Given the description of an element on the screen output the (x, y) to click on. 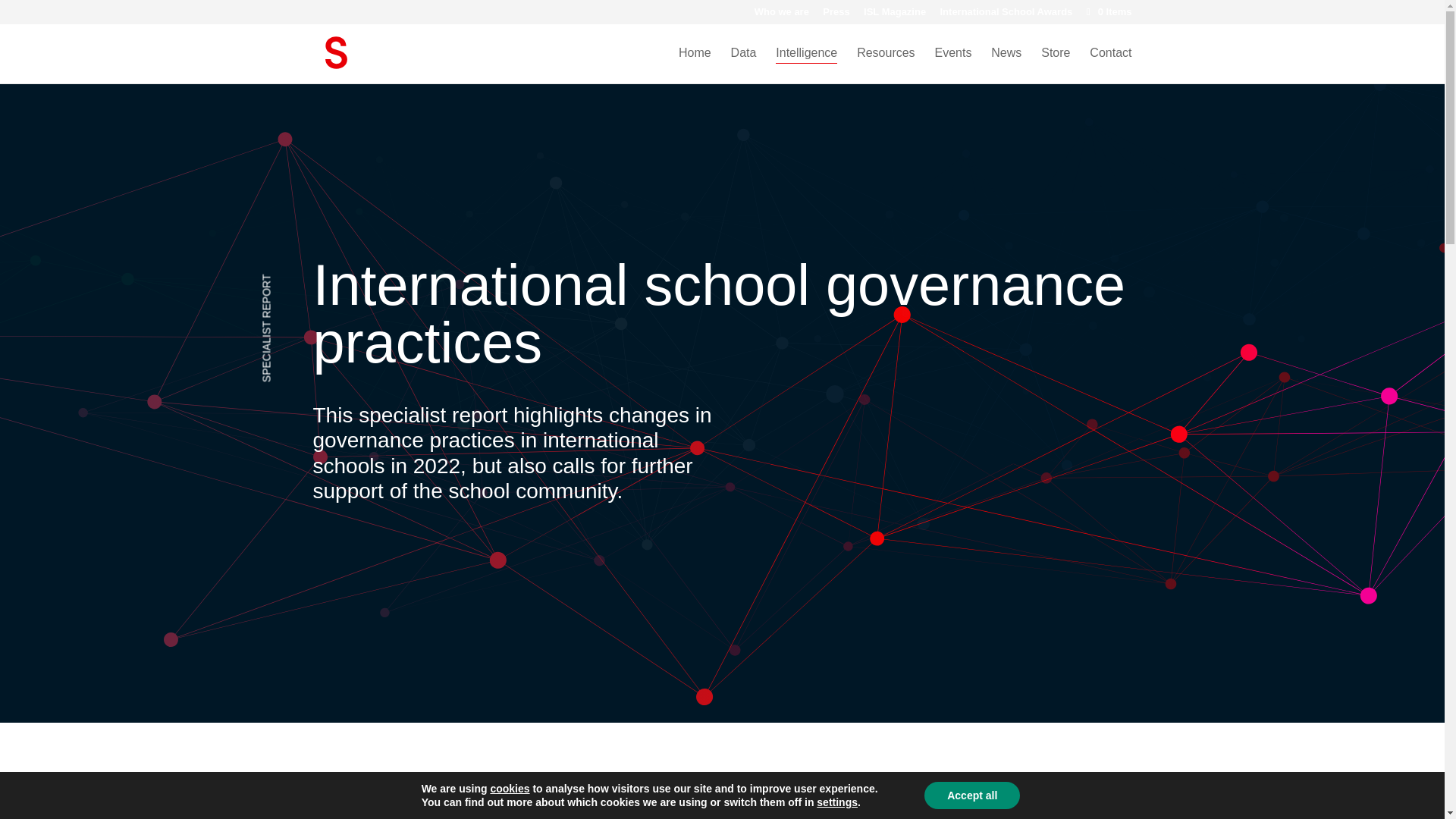
Events (952, 65)
Resources (885, 65)
International School Awards (1006, 15)
Who we are (781, 15)
Home (694, 65)
Intelligence (806, 65)
ISL Magazine (894, 15)
Press (835, 15)
Contact (1110, 65)
0 Items (1107, 11)
